Given the description of an element on the screen output the (x, y) to click on. 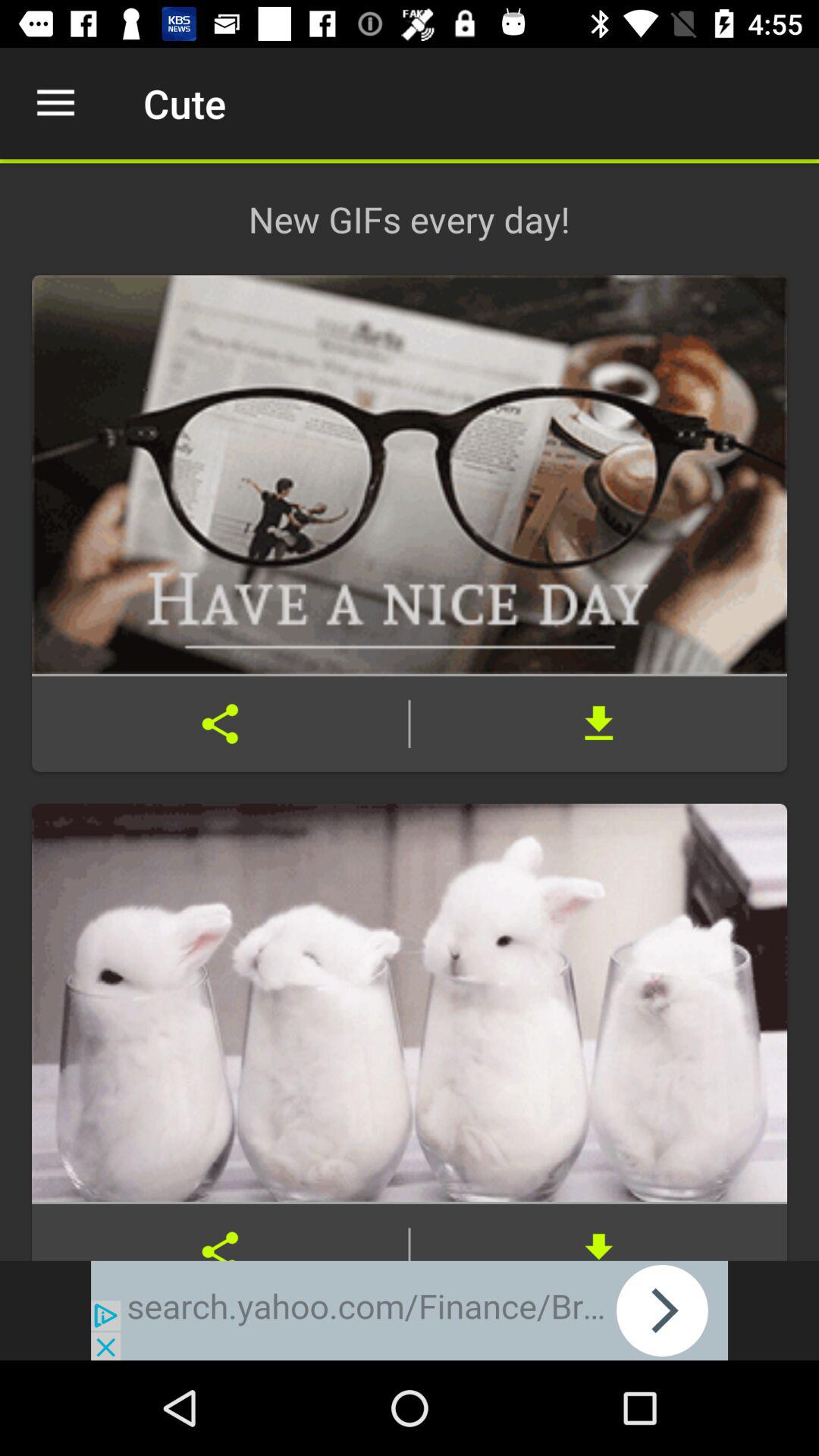
download file (598, 1232)
